Given the description of an element on the screen output the (x, y) to click on. 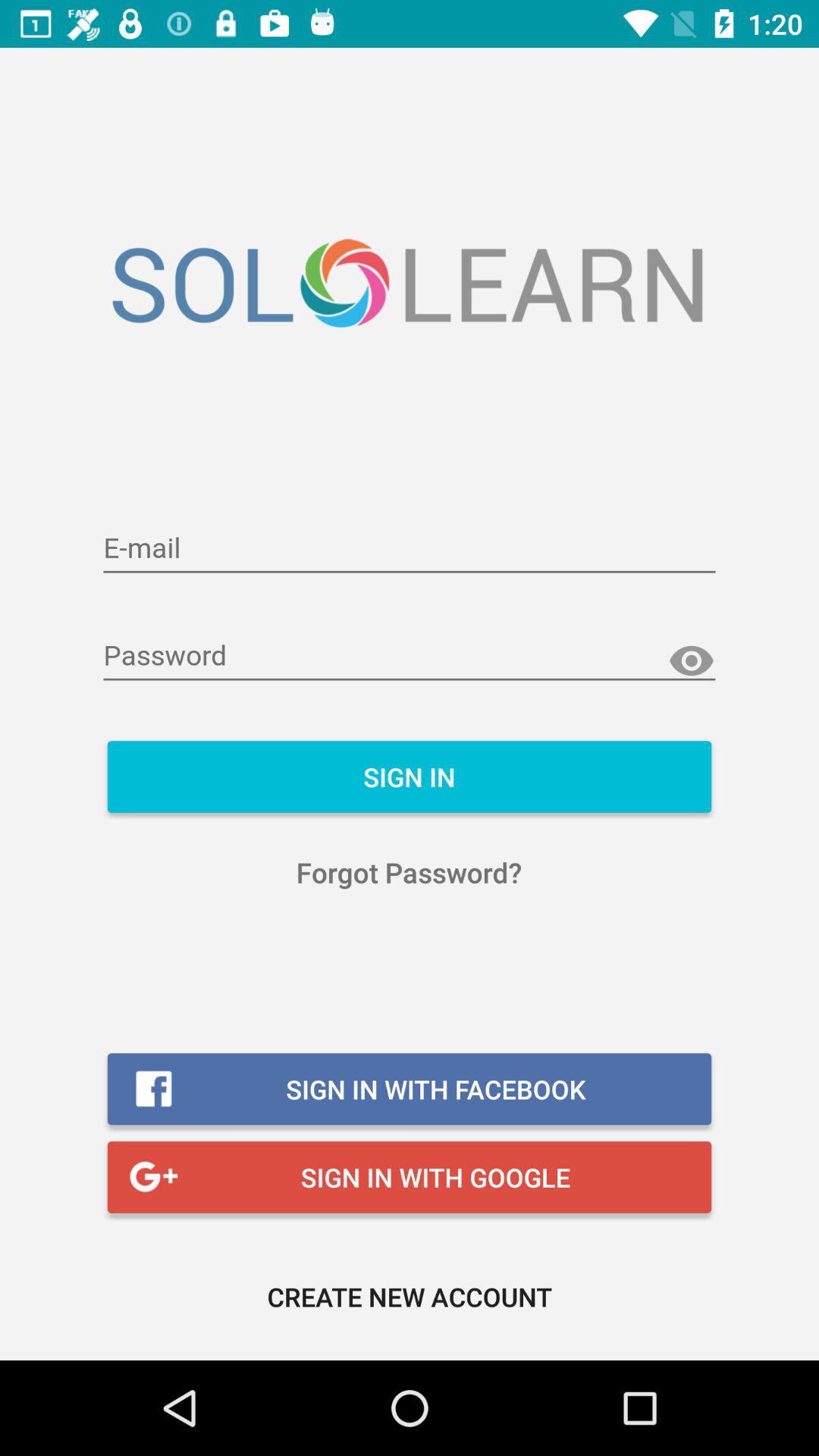
enters email address (409, 548)
